Given the description of an element on the screen output the (x, y) to click on. 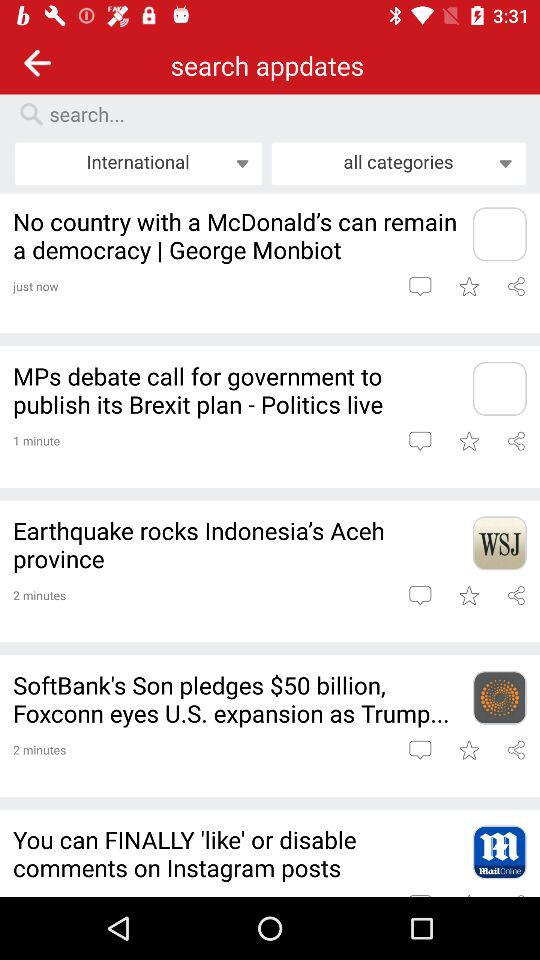
share (515, 595)
